Given the description of an element on the screen output the (x, y) to click on. 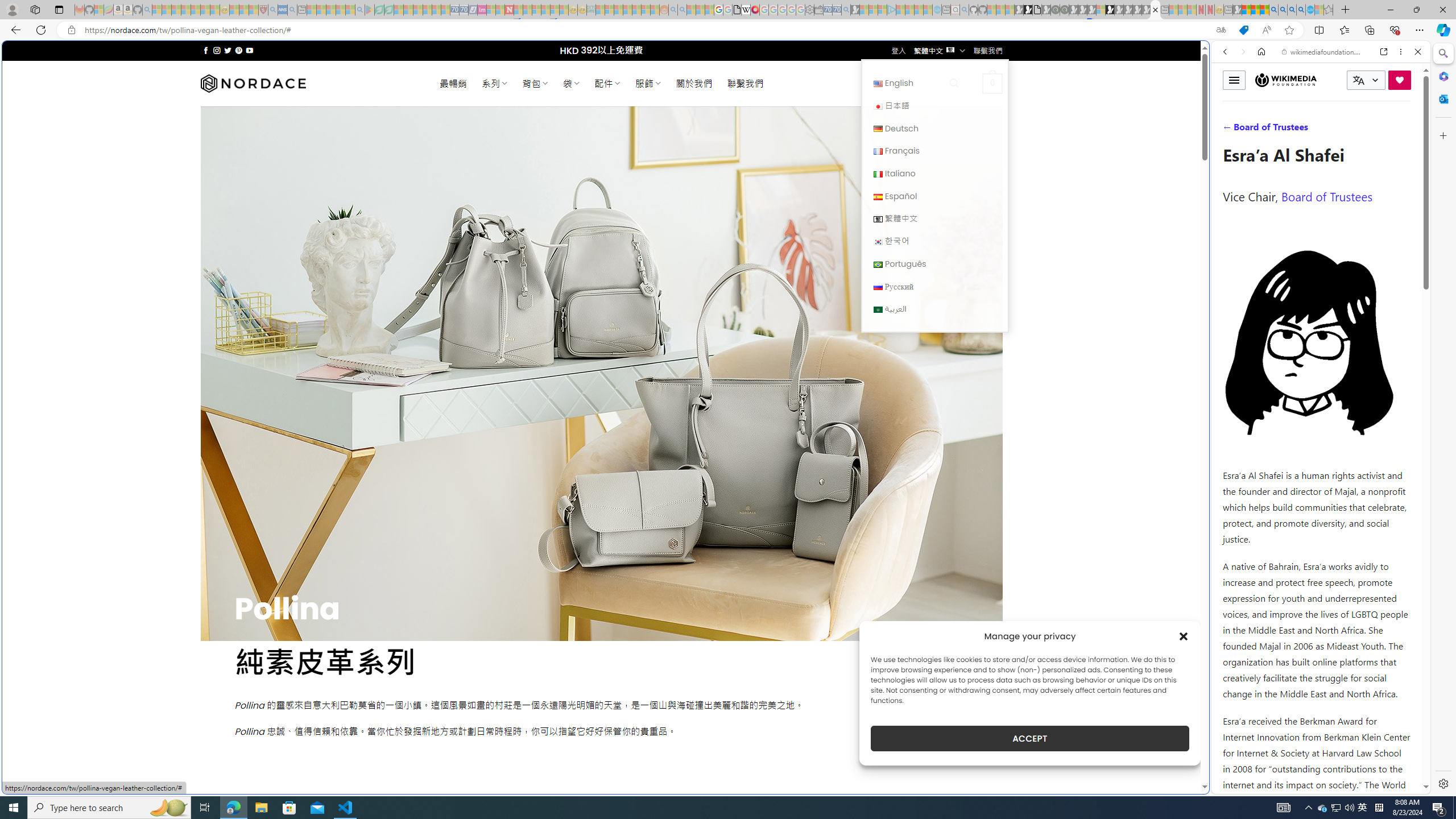
Tabs you've opened (885, 151)
utah sues federal government - Search (922, 389)
